Given the description of an element on the screen output the (x, y) to click on. 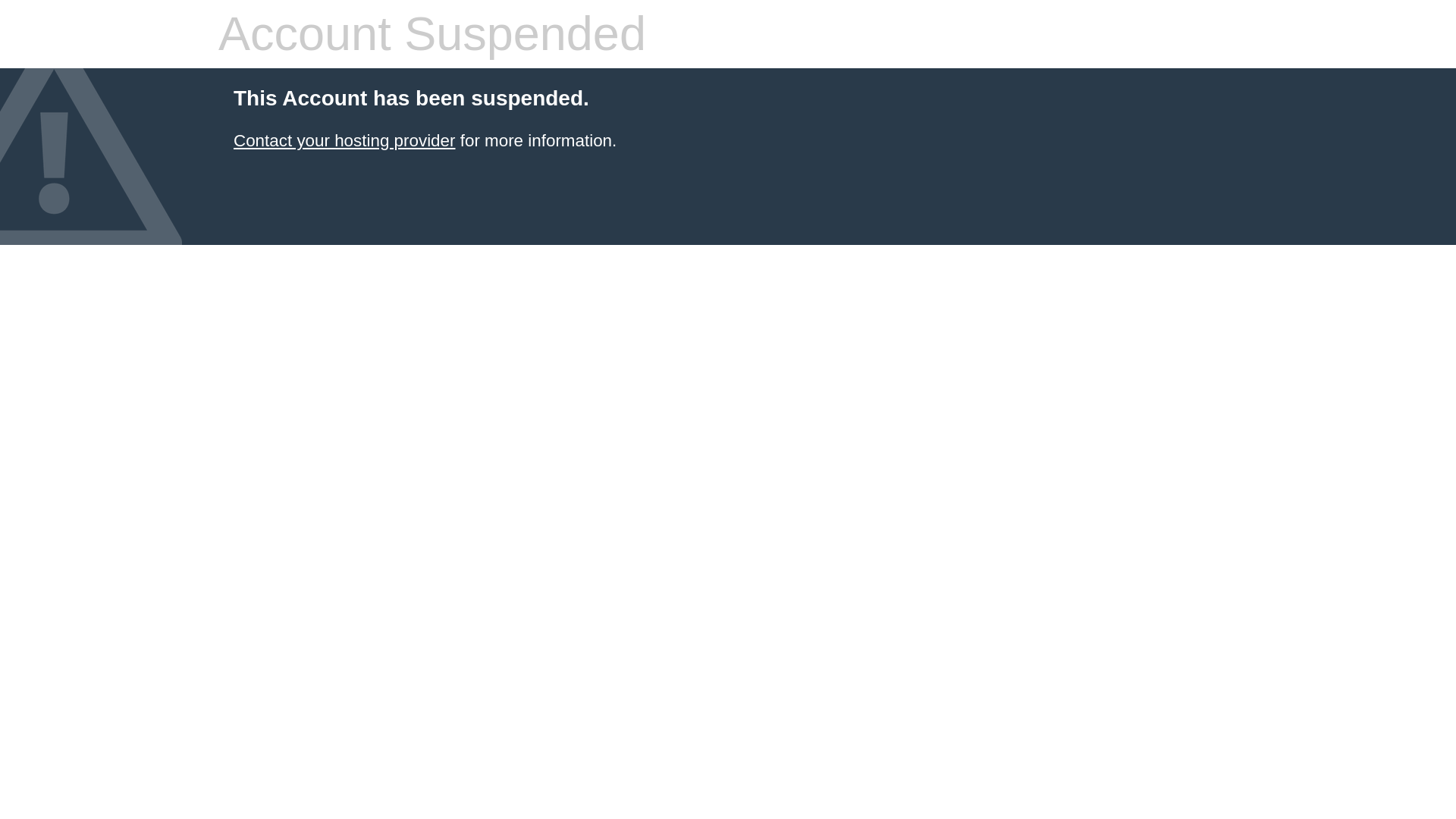
Contact your hosting provider (343, 140)
